Given the description of an element on the screen output the (x, y) to click on. 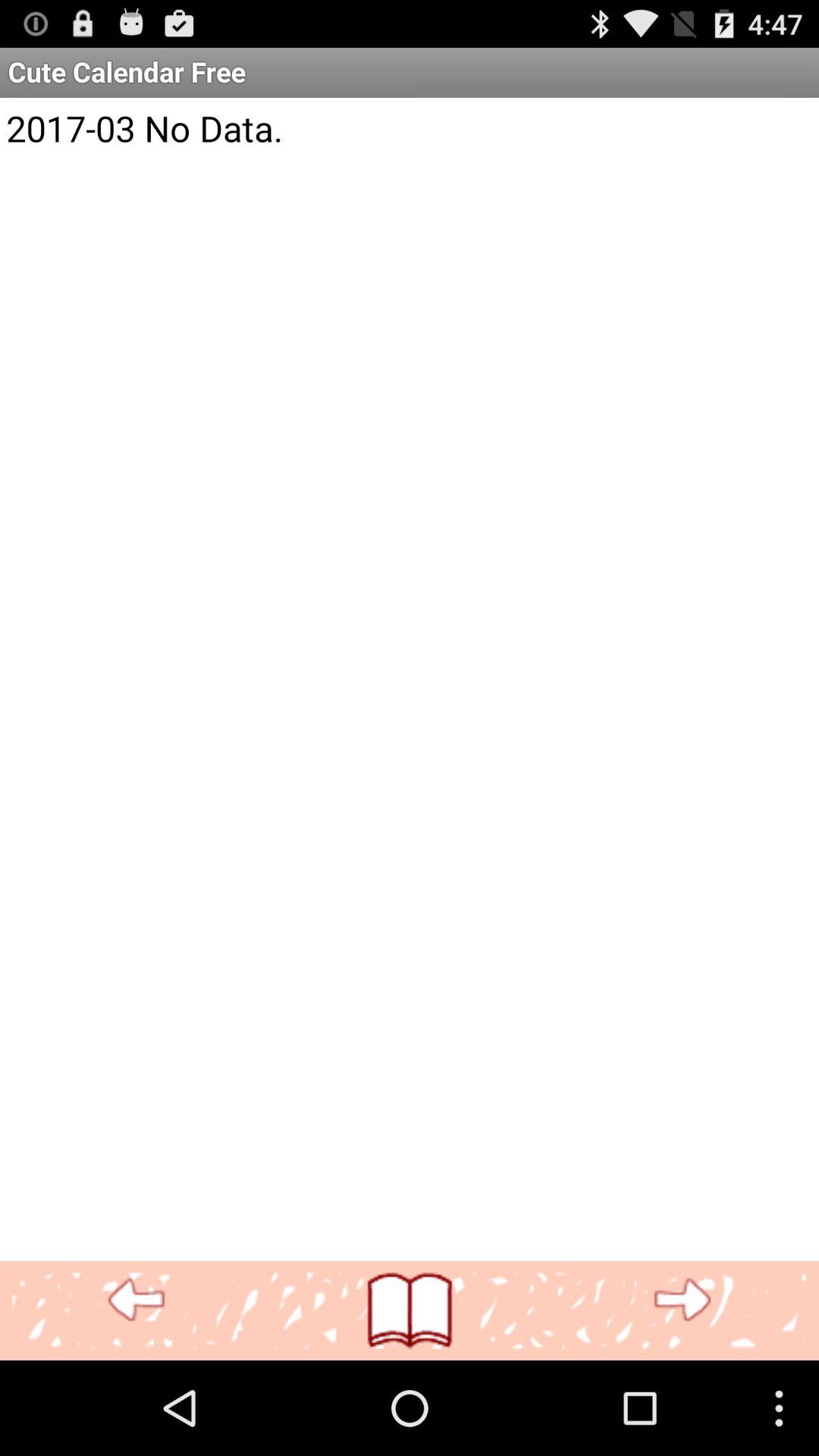
go forward (682, 1300)
